Given the description of an element on the screen output the (x, y) to click on. 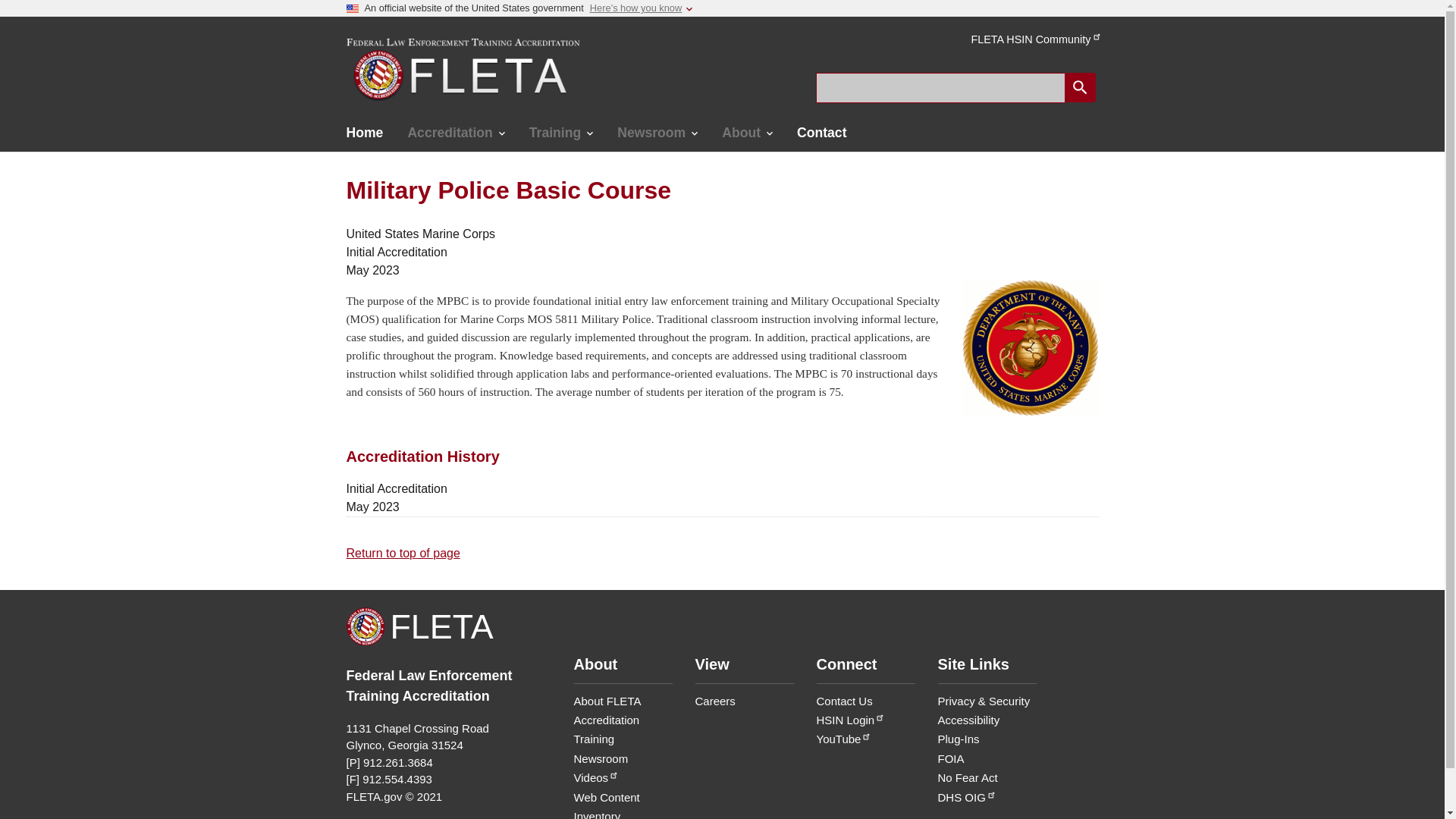
Home (363, 133)
Accreditation (455, 133)
Training (593, 738)
Home (166, 56)
Go to FLETA Homepage (461, 70)
Training (166, 132)
YouTube (842, 738)
Open positions at FLETA. (714, 700)
Contact (821, 133)
Accessibility (967, 719)
About (747, 133)
About (166, 208)
Accreditation (166, 94)
Return to top of page (403, 553)
